Given the description of an element on the screen output the (x, y) to click on. 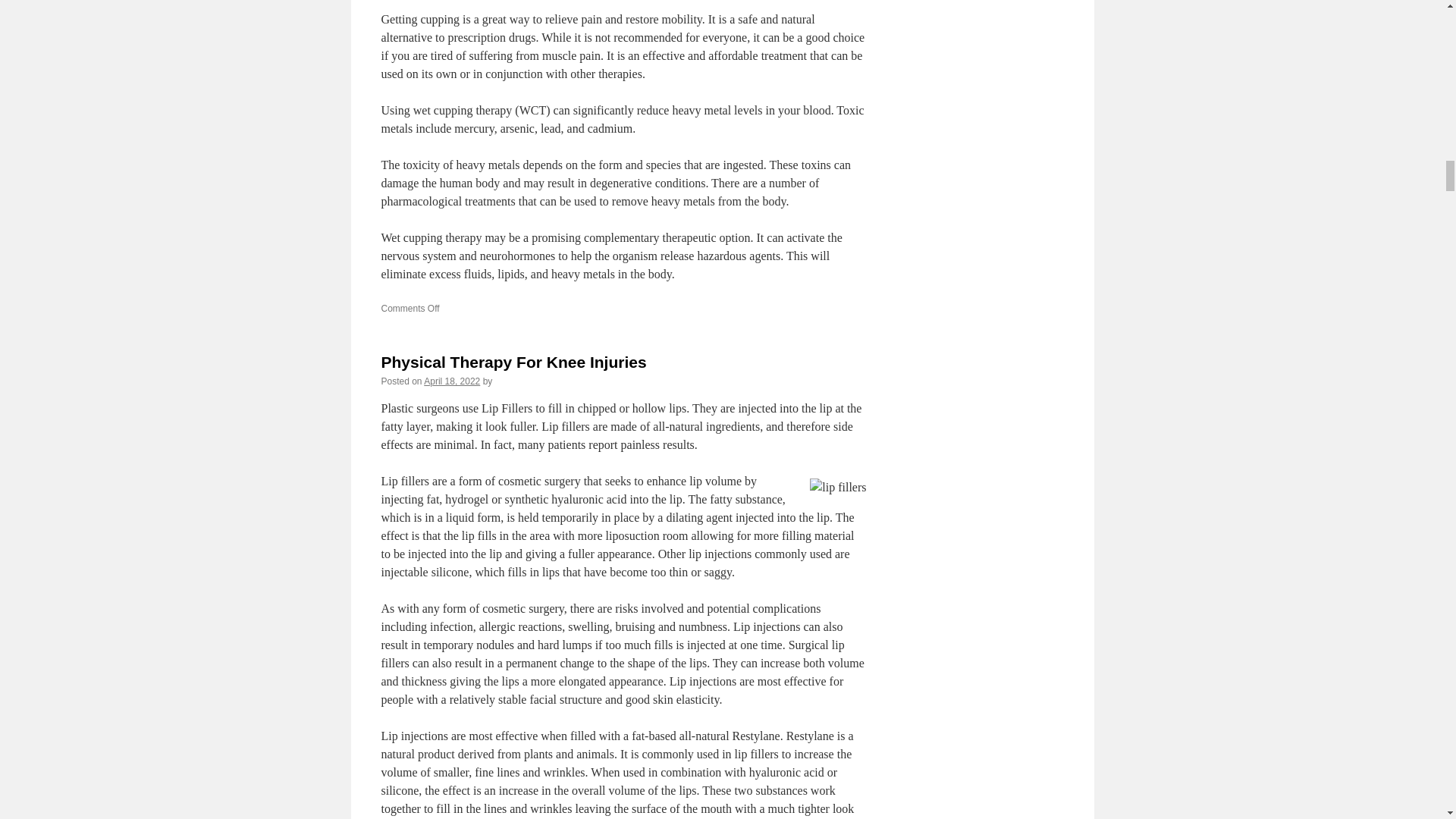
Physical Therapy For Knee Injuries (513, 361)
9:20 am (451, 380)
April 18, 2022 (451, 380)
